Given the description of an element on the screen output the (x, y) to click on. 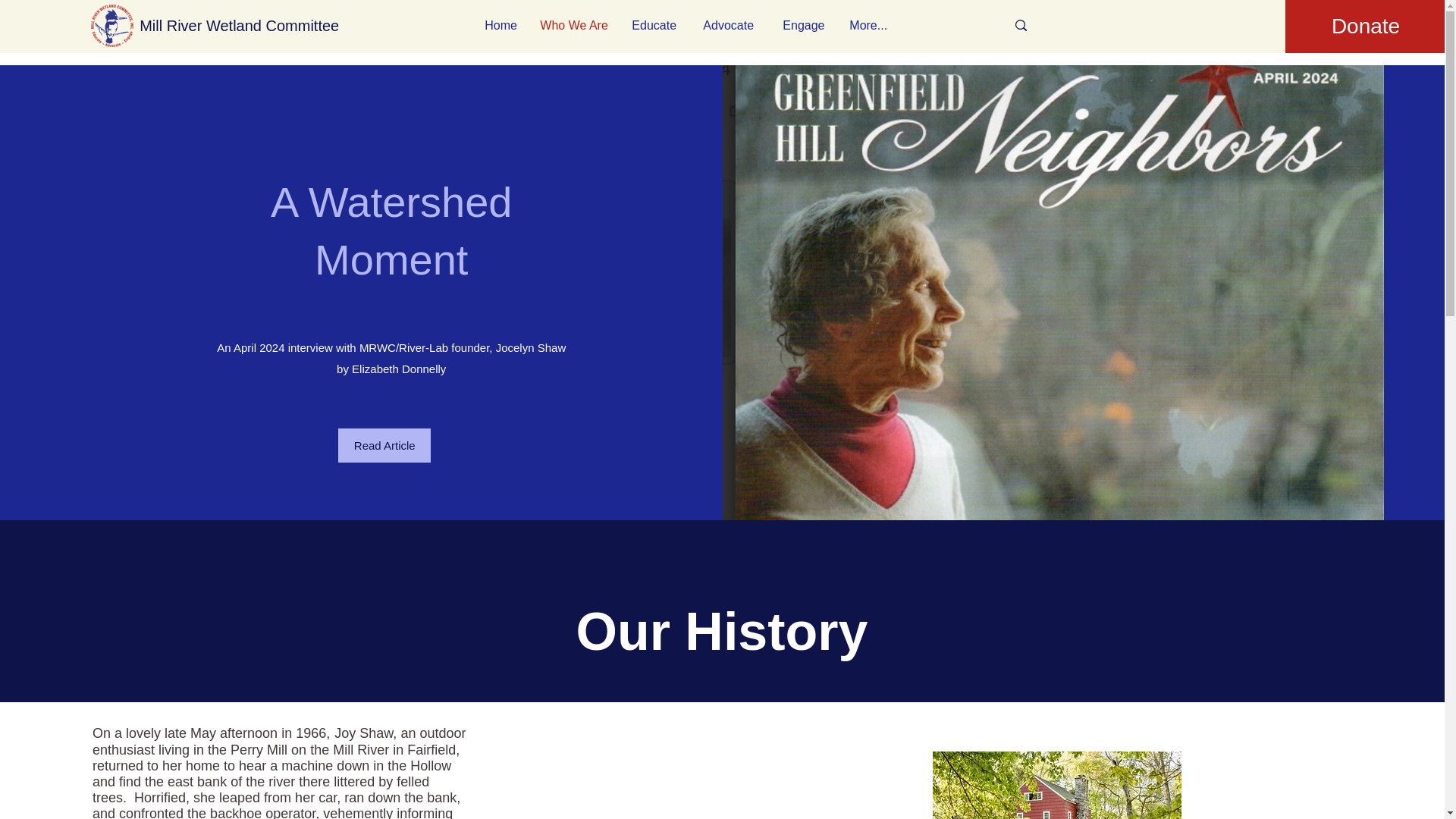
Advocate (731, 25)
Educate (655, 25)
Who We Are (574, 25)
Engage (804, 25)
Donate (1365, 26)
Home (500, 25)
Read Article (383, 445)
Mill River Wetland Committee (239, 25)
